Given the description of an element on the screen output the (x, y) to click on. 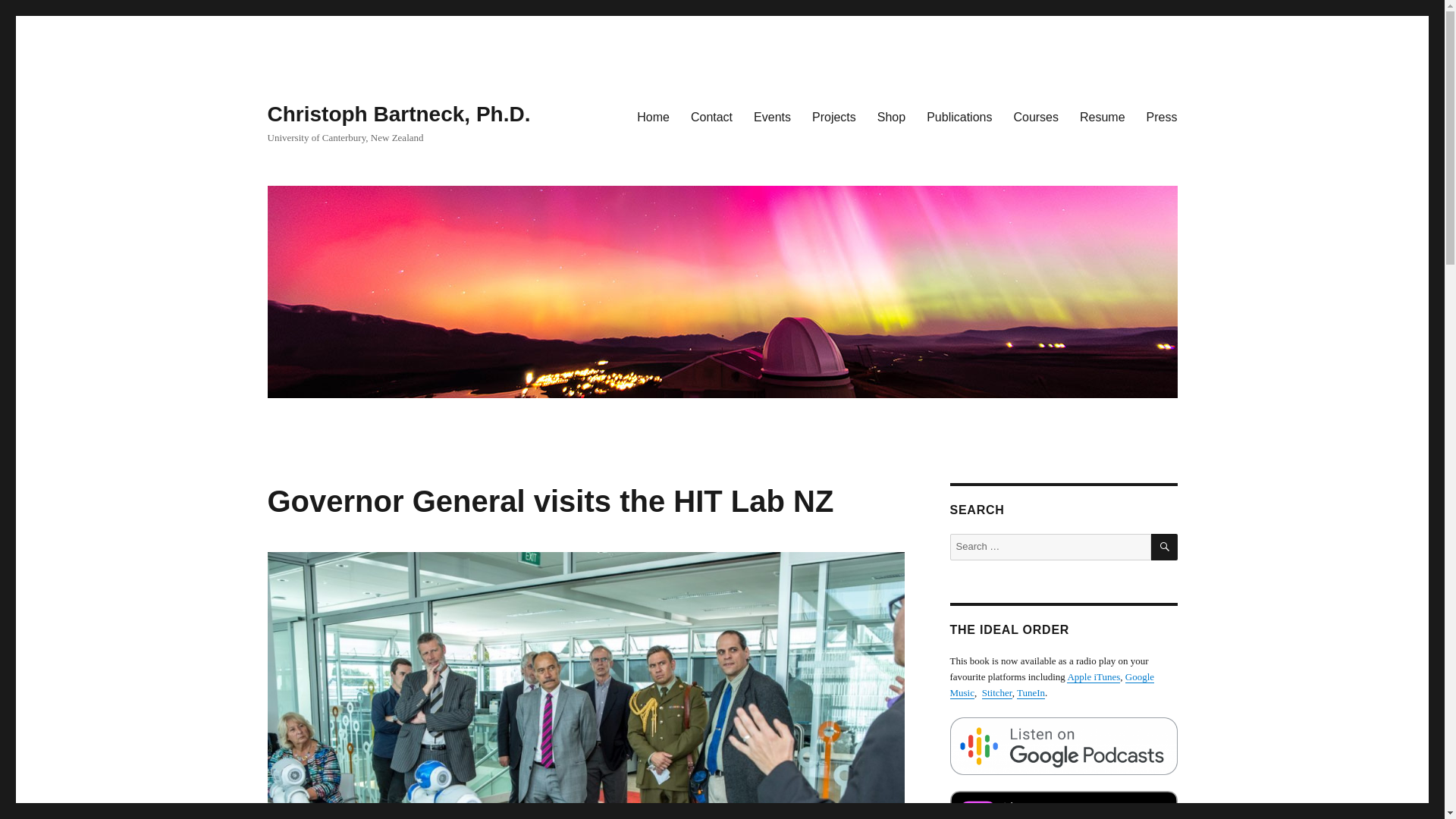
Resume (1101, 116)
Shop (890, 116)
Home (652, 116)
Publications (959, 116)
Christoph Bartneck, Ph.D. (397, 114)
Courses (1035, 116)
Contact (710, 116)
SEARCH (1164, 546)
Apple iTunes (1093, 676)
Events (772, 116)
Projects (834, 116)
TuneIn (1030, 692)
Google Music (1051, 684)
Press (1161, 116)
Stitcher (996, 692)
